Given the description of an element on the screen output the (x, y) to click on. 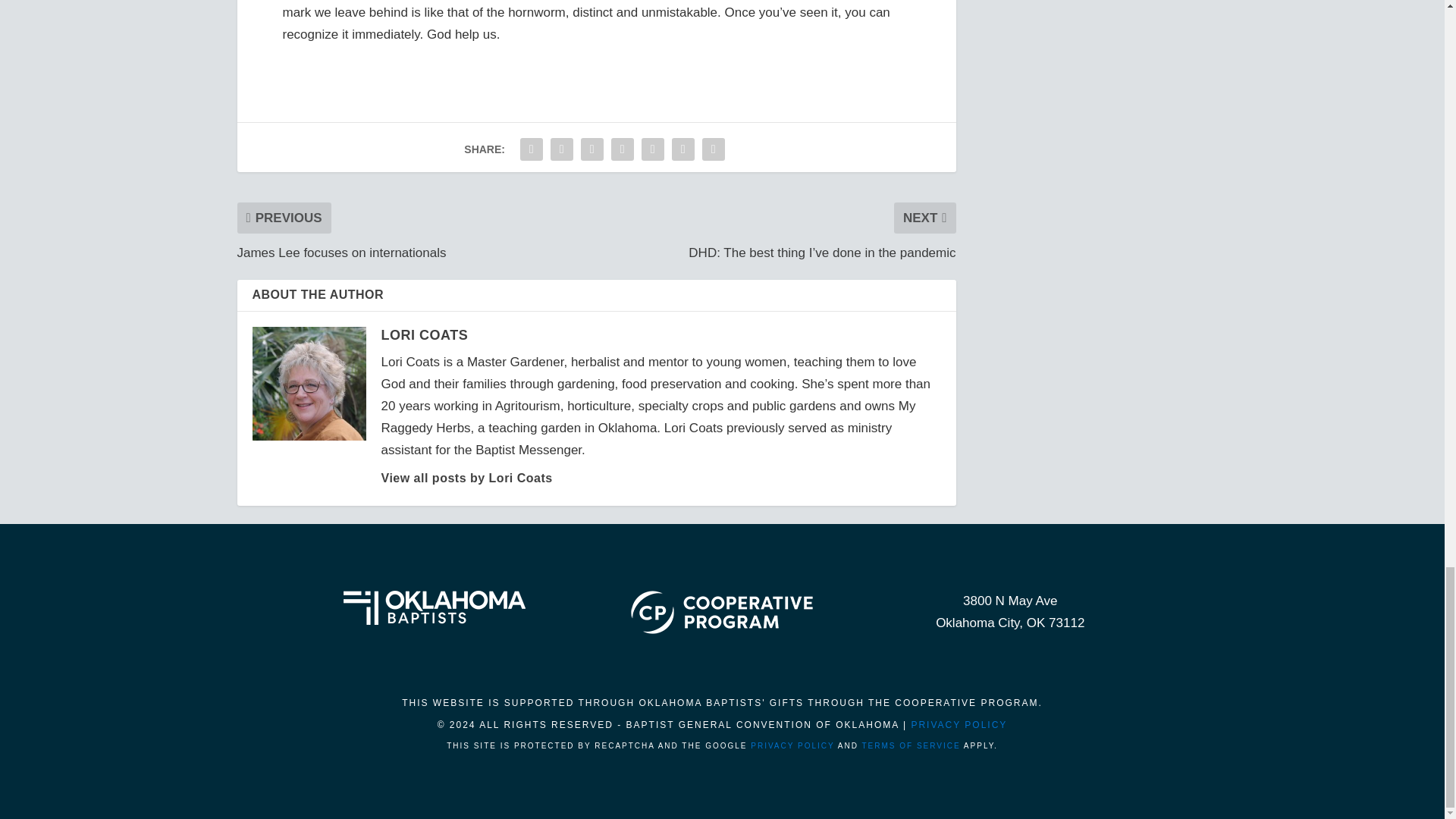
Share "BLOG: Distinct and Unmistakable" via Twitter (561, 149)
Share "BLOG: Distinct and Unmistakable" via Email (683, 149)
Share "BLOG: Distinct and Unmistakable" via LinkedIn (652, 149)
View all posts by Lori Coats (423, 335)
Share "BLOG: Distinct and Unmistakable" via Print (713, 149)
Share "BLOG: Distinct and Unmistakable" via Pinterest (622, 149)
View all posts by Lori Coats (465, 477)
Share "BLOG: Distinct and Unmistakable" via Facebook (531, 149)
